Given the description of an element on the screen output the (x, y) to click on. 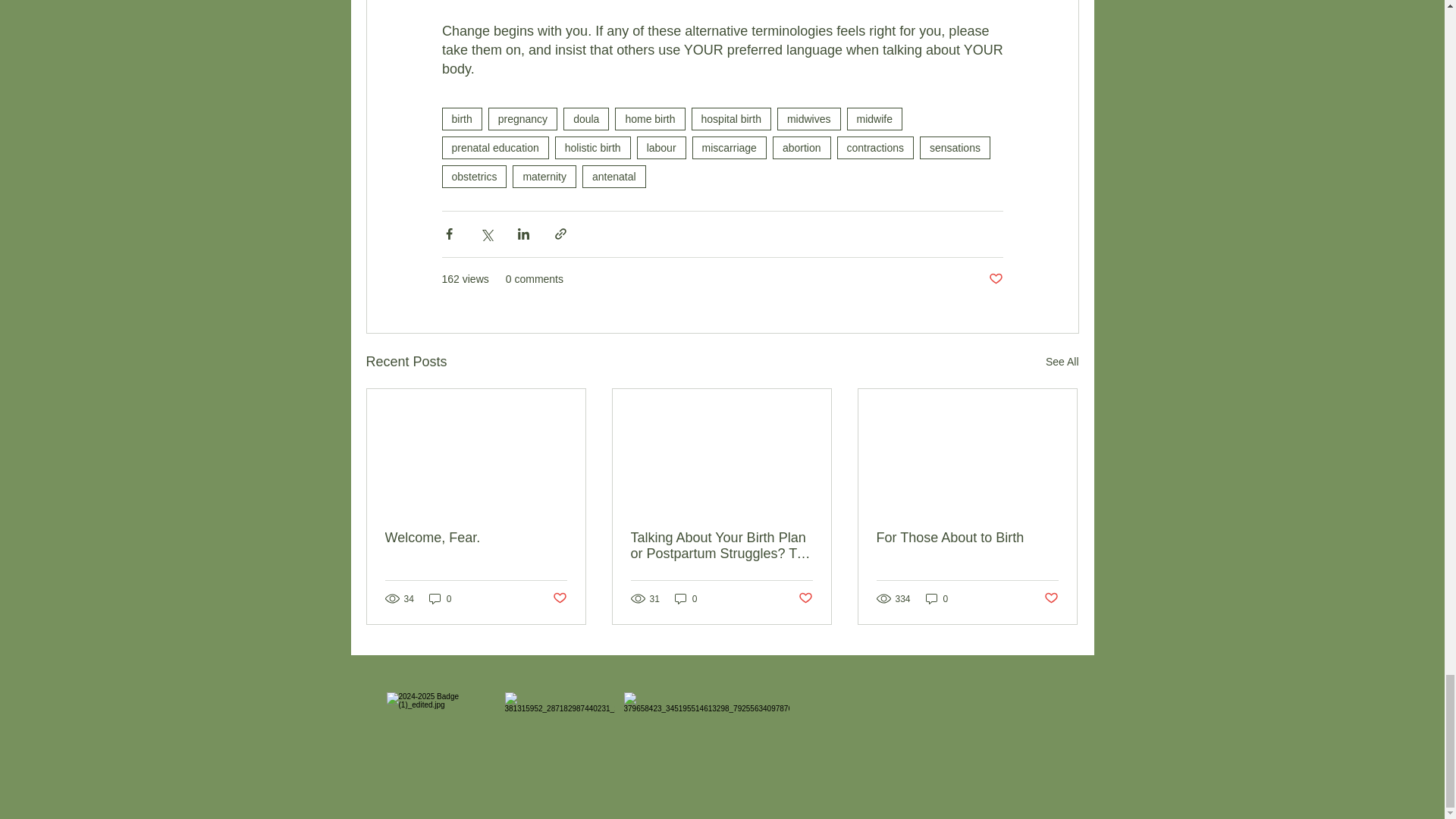
antenatal (614, 176)
sensations (955, 147)
prenatal education (494, 147)
maternity (544, 176)
obstetrics (473, 176)
abortion (802, 147)
doula (585, 118)
contractions (875, 147)
birth (461, 118)
home birth (649, 118)
midwife (874, 118)
labour (661, 147)
miscarriage (730, 147)
hospital birth (731, 118)
pregnancy (522, 118)
